Given the description of an element on the screen output the (x, y) to click on. 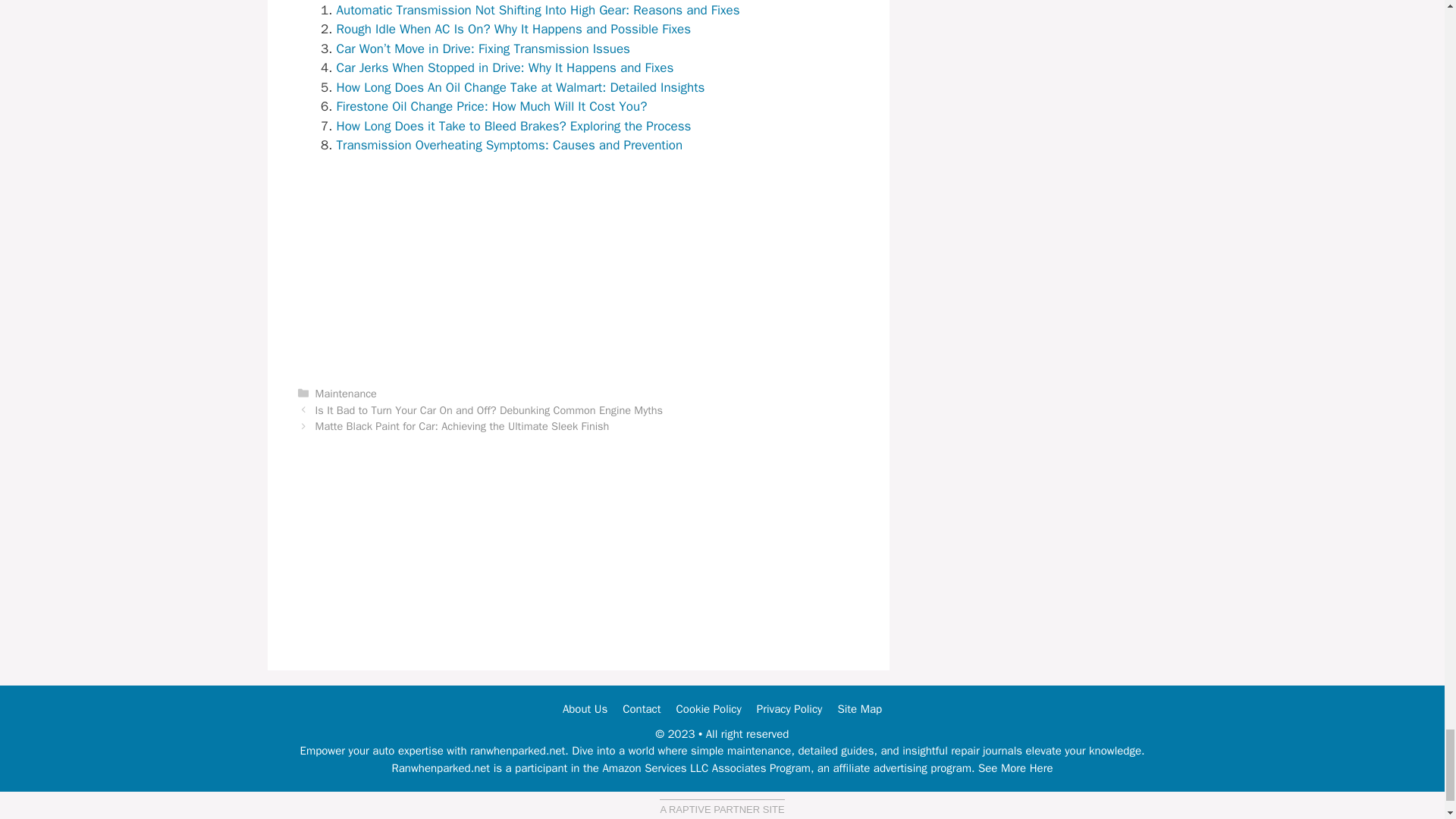
How Long Does it Take to Bleed Brakes? Exploring the Process (513, 125)
Car Jerks When Stopped in Drive: Why It Happens and Fixes (505, 67)
Transmission Overheating Symptoms: Causes and Prevention (509, 145)
Rough Idle When AC Is On? Why It Happens and Possible Fixes (513, 28)
Firestone Oil Change Price: How Much Will It Cost You? (491, 106)
